Given the description of an element on the screen output the (x, y) to click on. 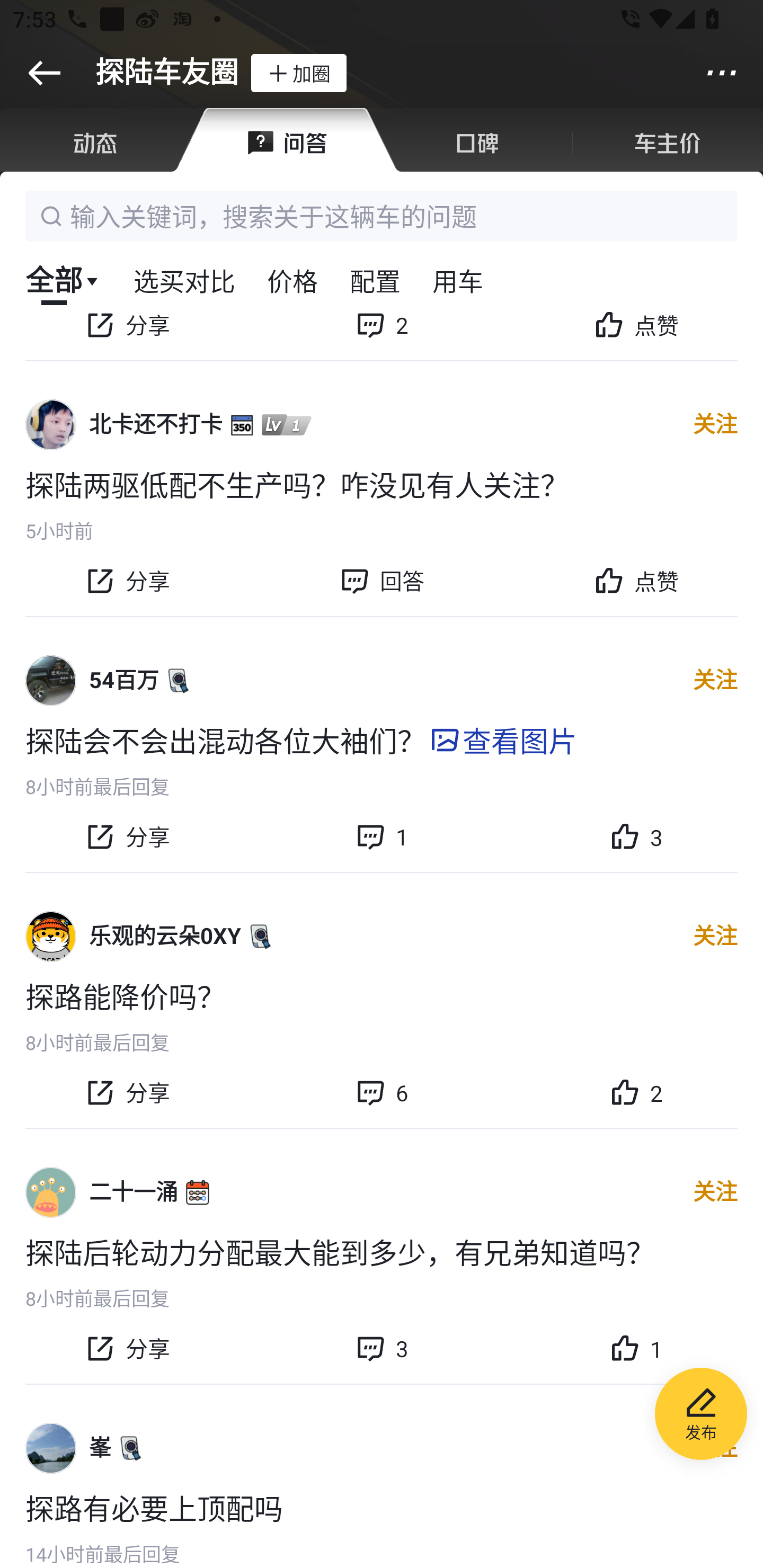
 (44, 72)
 加圈 (298, 72)
 (721, 72)
 输入关键词，搜索关于这辆车的问题 (381, 216)
全部  (63, 279)
选买对比 (184, 279)
价格 (292, 279)
配置 (374, 279)
用车 (457, 279)
 分享  2 点赞 (381, 343)
 分享 (127, 336)
 2 (381, 336)
点赞 (635, 336)
关注 (714, 424)
北卡还不打卡 (155, 424)
探陆两驱低配不生产吗？咋没见有人关注？ (381, 483)
 分享 (127, 580)
 回答 (381, 580)
点赞 (635, 580)
关注 (714, 680)
54百万 (123, 680)
探陆会不会出混动各位大袖们？  查看图片 (381, 739)
 分享 (127, 836)
 1 (381, 836)
3 (635, 836)
关注 (714, 936)
乐观的云朵0XY (165, 935)
探路能降价吗？ (381, 995)
 分享 (127, 1092)
 6 (381, 1092)
2 (635, 1092)
关注 (714, 1192)
二十一涌 (133, 1192)
探陆后轮动力分配最大能到多少，有兄弟知道吗？ (381, 1250)
 分享 (127, 1347)
 3 (381, 1347)
1 (635, 1347)
 发布 (701, 1416)
峯 (100, 1448)
探路有必要上顶配吗 (381, 1507)
